Given the description of an element on the screen output the (x, y) to click on. 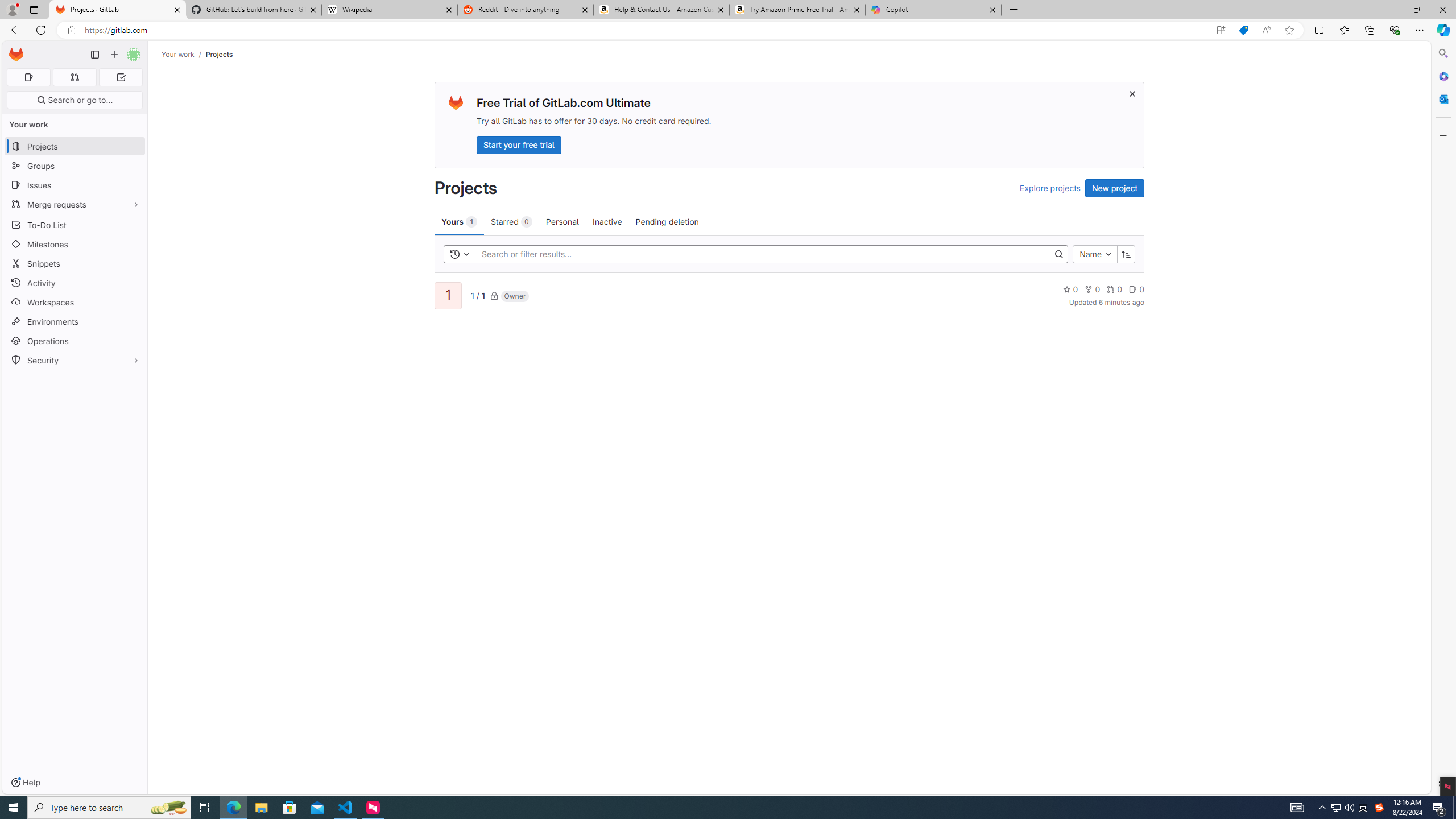
Milestones (74, 244)
Operations (74, 340)
Operations (74, 340)
Inactive (606, 221)
Issues (74, 185)
Try Amazon Prime Free Trial - Amazon Customer Service (797, 9)
Starred 0 (510, 221)
Projects (218, 53)
Your work/ (183, 53)
Dismiss trial promotion (1131, 93)
App available. Install GitLab (1220, 29)
Snippets (74, 262)
